Given the description of an element on the screen output the (x, y) to click on. 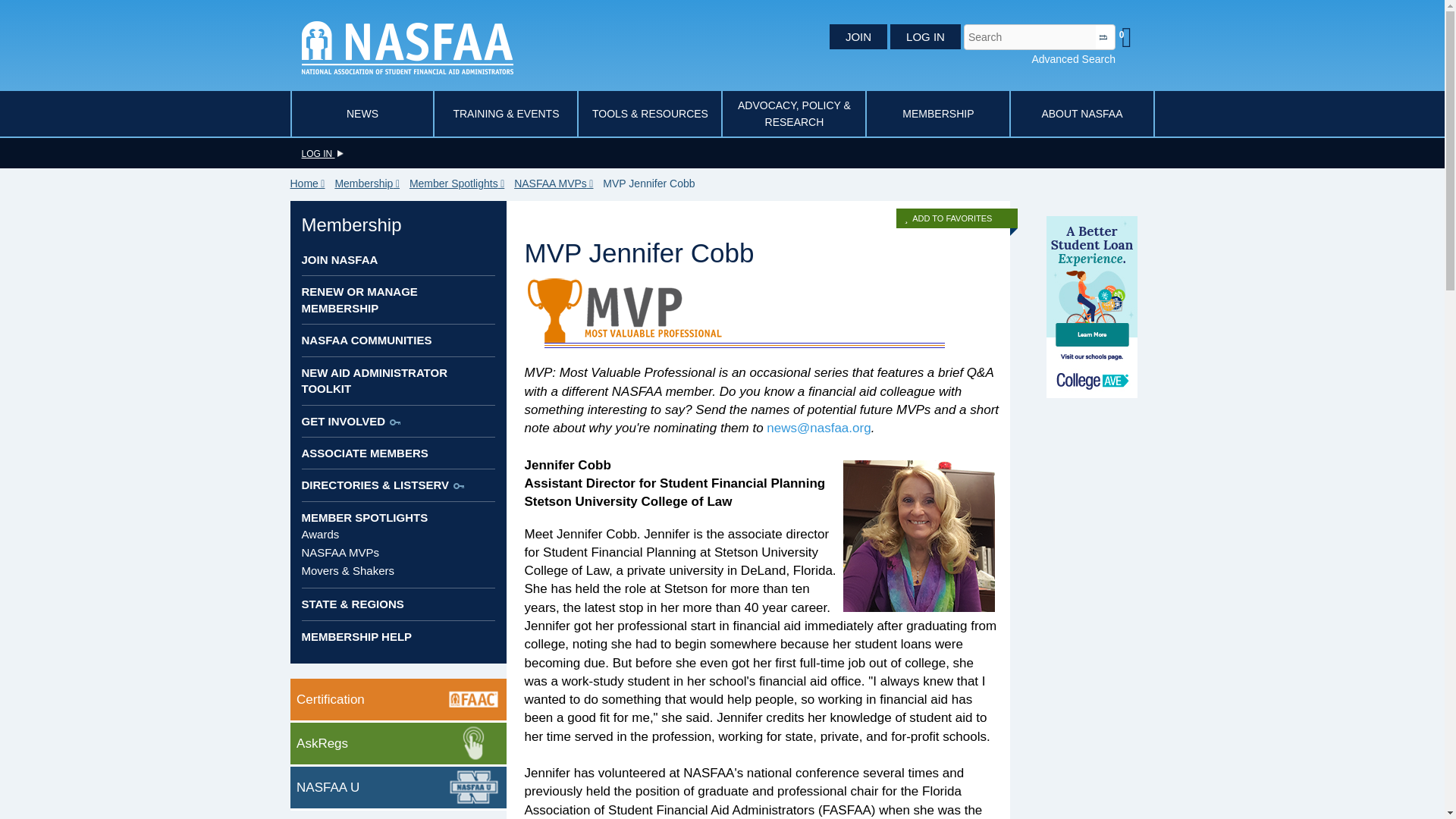
Awards (320, 533)
Join NASFAA (339, 259)
NASFAA MVPs (556, 183)
New Aid Administrator Toolkit (374, 380)
Membership (351, 224)
Home (310, 183)
NASFAA MVPs (340, 552)
Member Spotlights (364, 517)
Membership (370, 183)
Login (322, 153)
Home (407, 46)
NASFAA Communities (366, 339)
Member Spotlights (460, 183)
Renew or Manage Membership (359, 299)
Associate Members (364, 452)
